Given the description of an element on the screen output the (x, y) to click on. 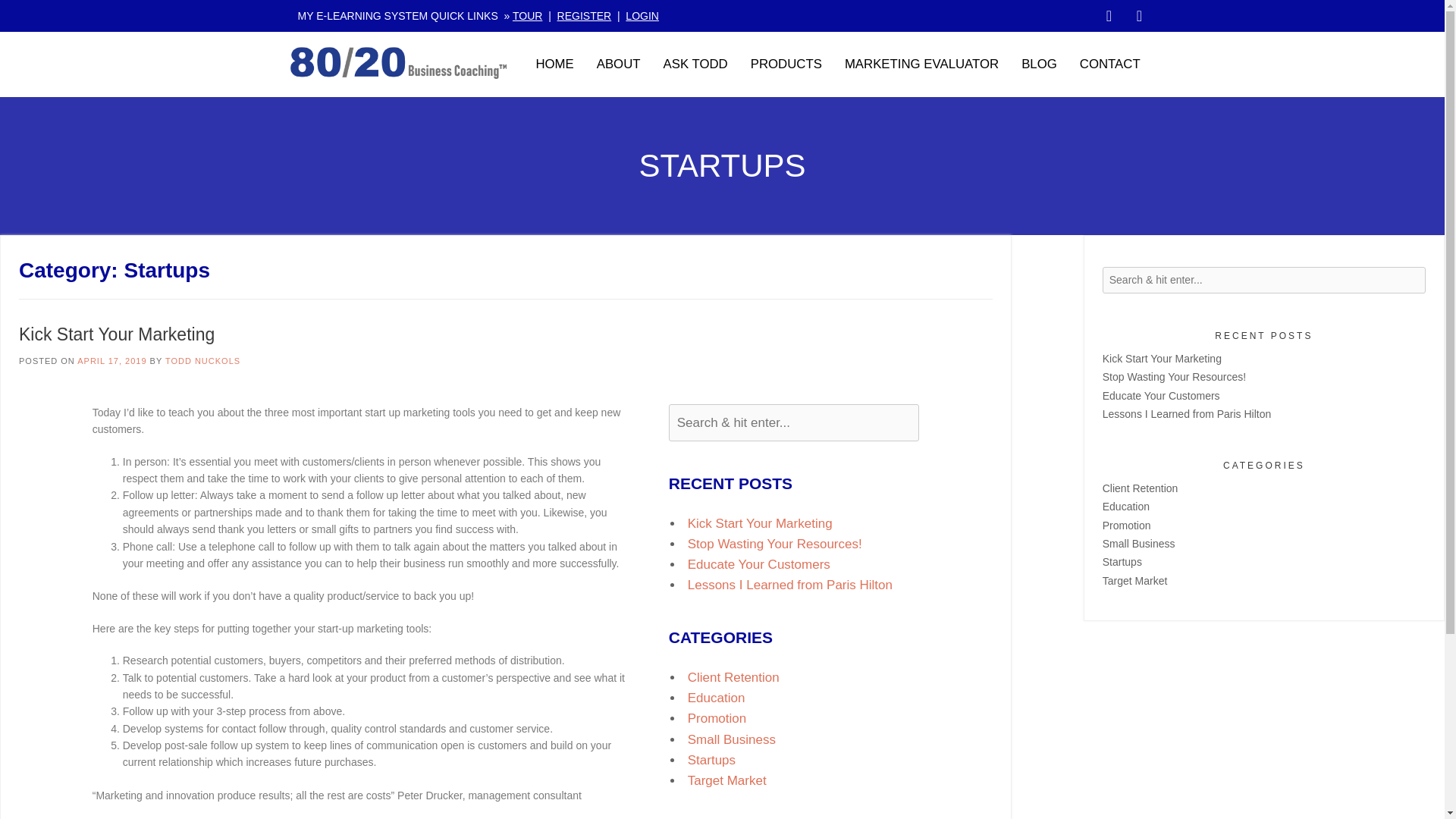
TOUR (526, 15)
Small Business (731, 739)
PRODUCTS (785, 63)
Stop Wasting Your Resources! (774, 544)
Educate Your Customers (758, 564)
HOME (554, 63)
Kick Start Your Marketing (116, 333)
Promotion (716, 718)
CONTACT (1109, 63)
REGISTER (584, 15)
Client Retention (732, 677)
Kick Start Your Marketing (1161, 358)
MARKETING EVALUATOR (921, 63)
BLOG (1039, 63)
